Given the description of an element on the screen output the (x, y) to click on. 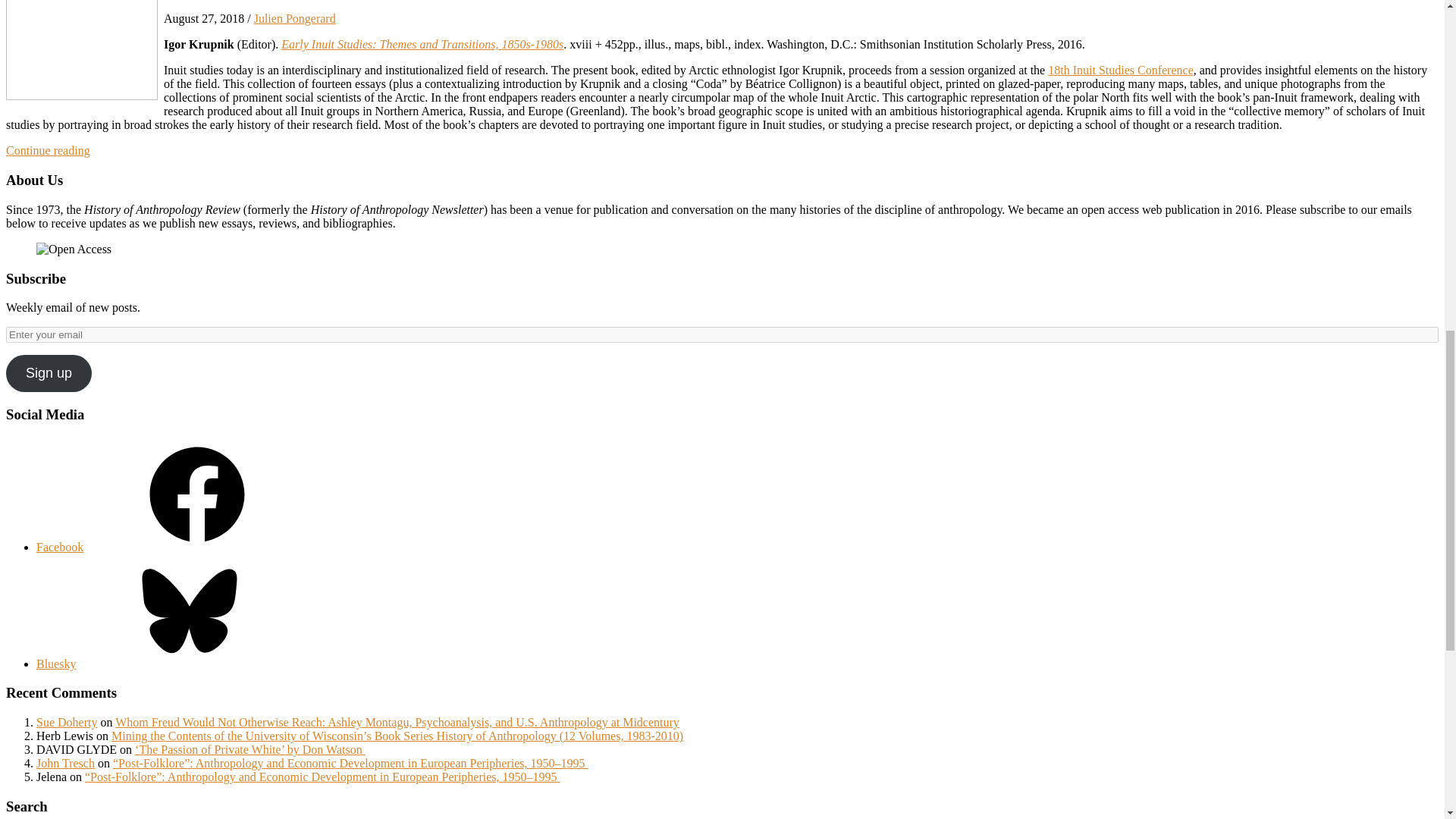
Posts by Julien Pongerard (294, 18)
